Given the description of an element on the screen output the (x, y) to click on. 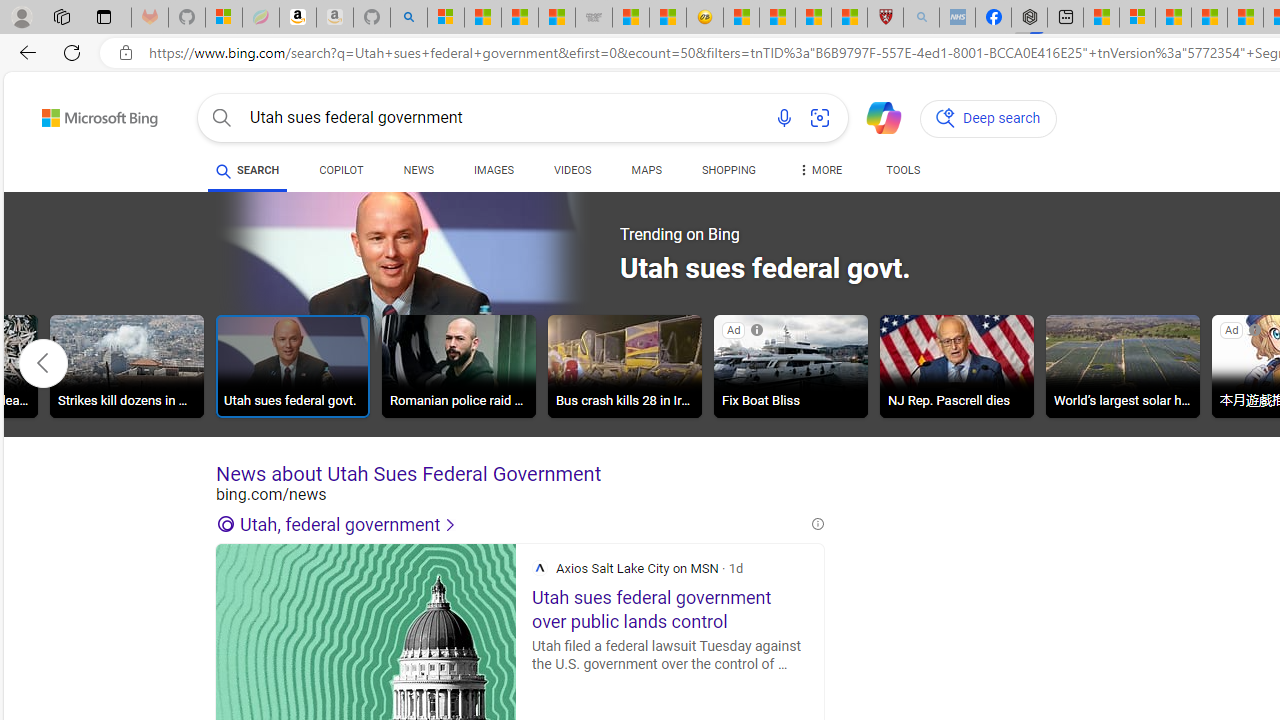
Trending on Bing Utah sues federal govt. (595, 272)
bing.com/news (520, 494)
COPILOT (341, 173)
Search using voice (783, 117)
TOOLS (903, 173)
Search using an image (820, 117)
Bus crash kills 28 in Iran (624, 369)
COPILOT (341, 170)
